Given the description of an element on the screen output the (x, y) to click on. 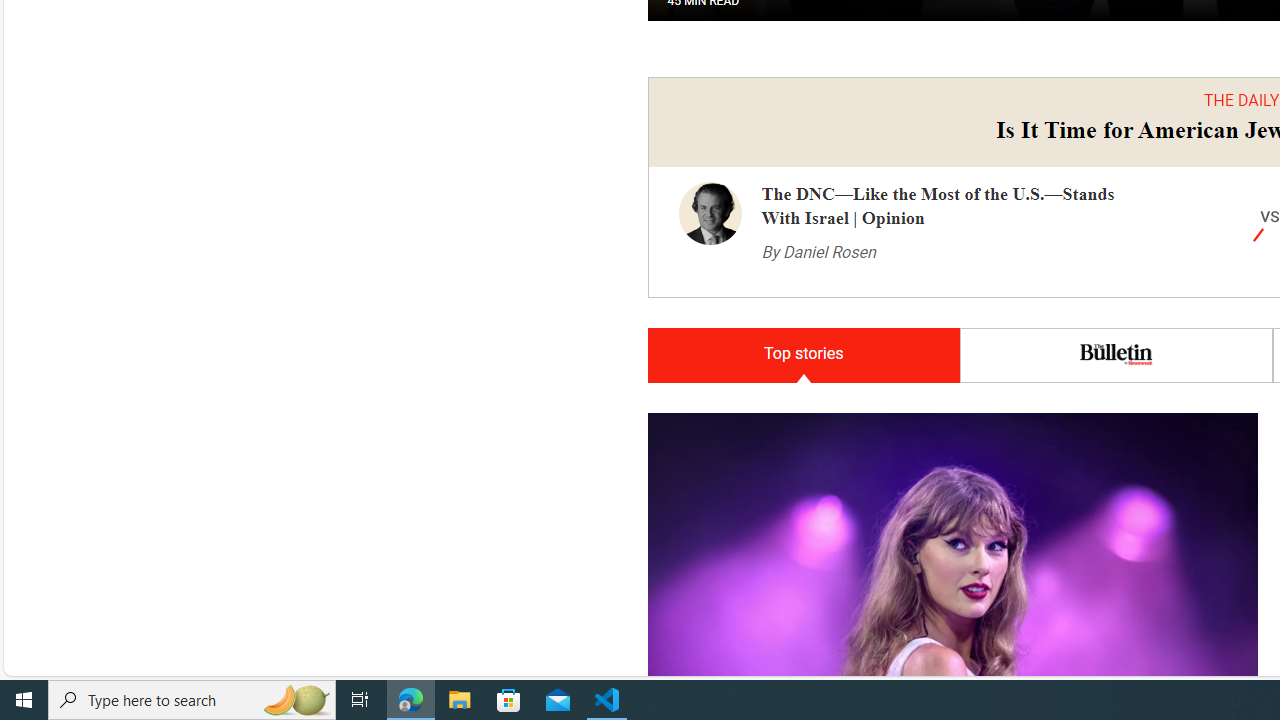
Top stories (803, 355)
By Daniel Rosen (818, 252)
